Given the description of an element on the screen output the (x, y) to click on. 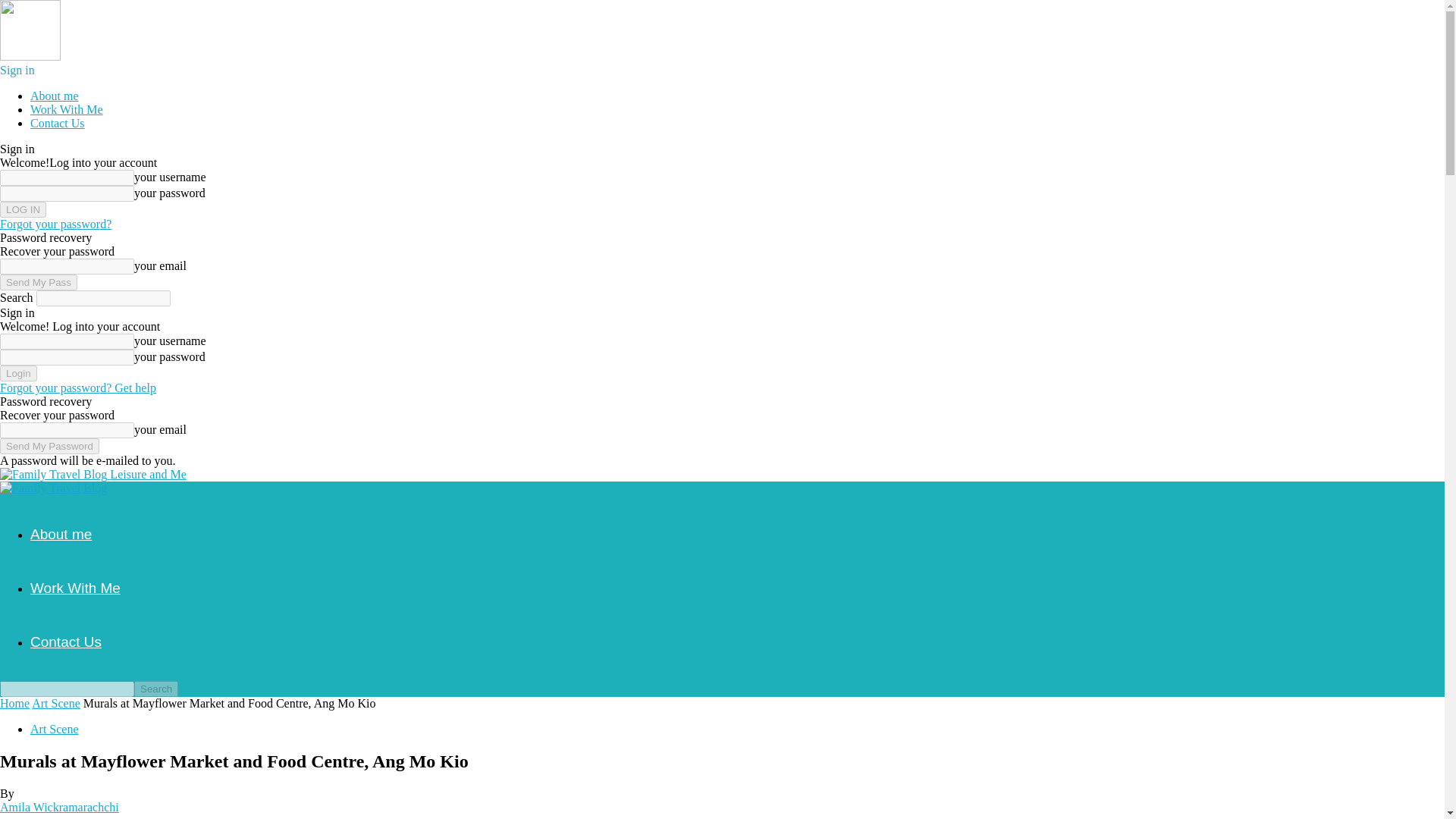
Singapore Family Travel Blog (53, 474)
Contact Us (65, 641)
Contact Us (57, 123)
Art Scene (54, 728)
Send My Pass (38, 282)
Amila Wickramarachchi (59, 807)
Search (155, 688)
Work With Me (66, 109)
Home (14, 703)
Singapore Family Travel Blog (53, 488)
